Given the description of an element on the screen output the (x, y) to click on. 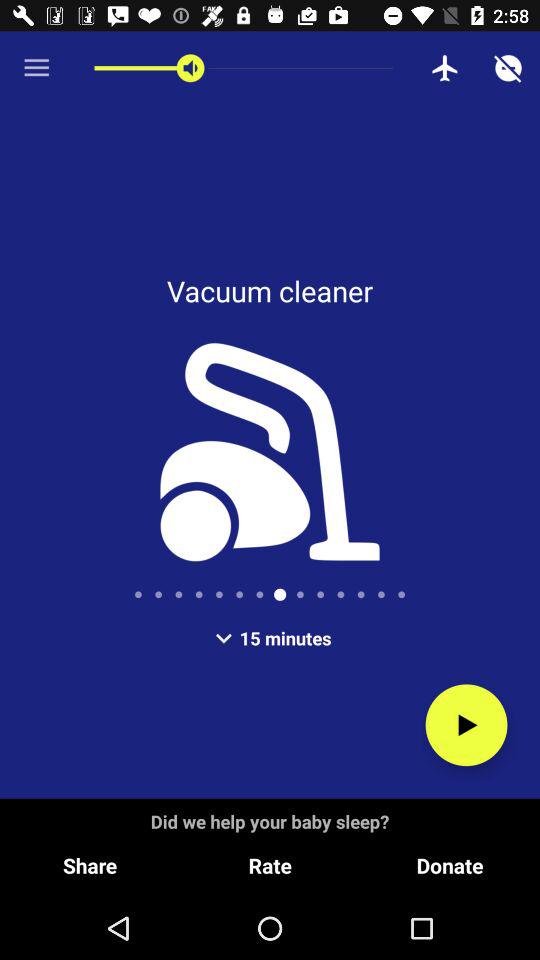
play the vacuum cleaner (466, 725)
